Given the description of an element on the screen output the (x, y) to click on. 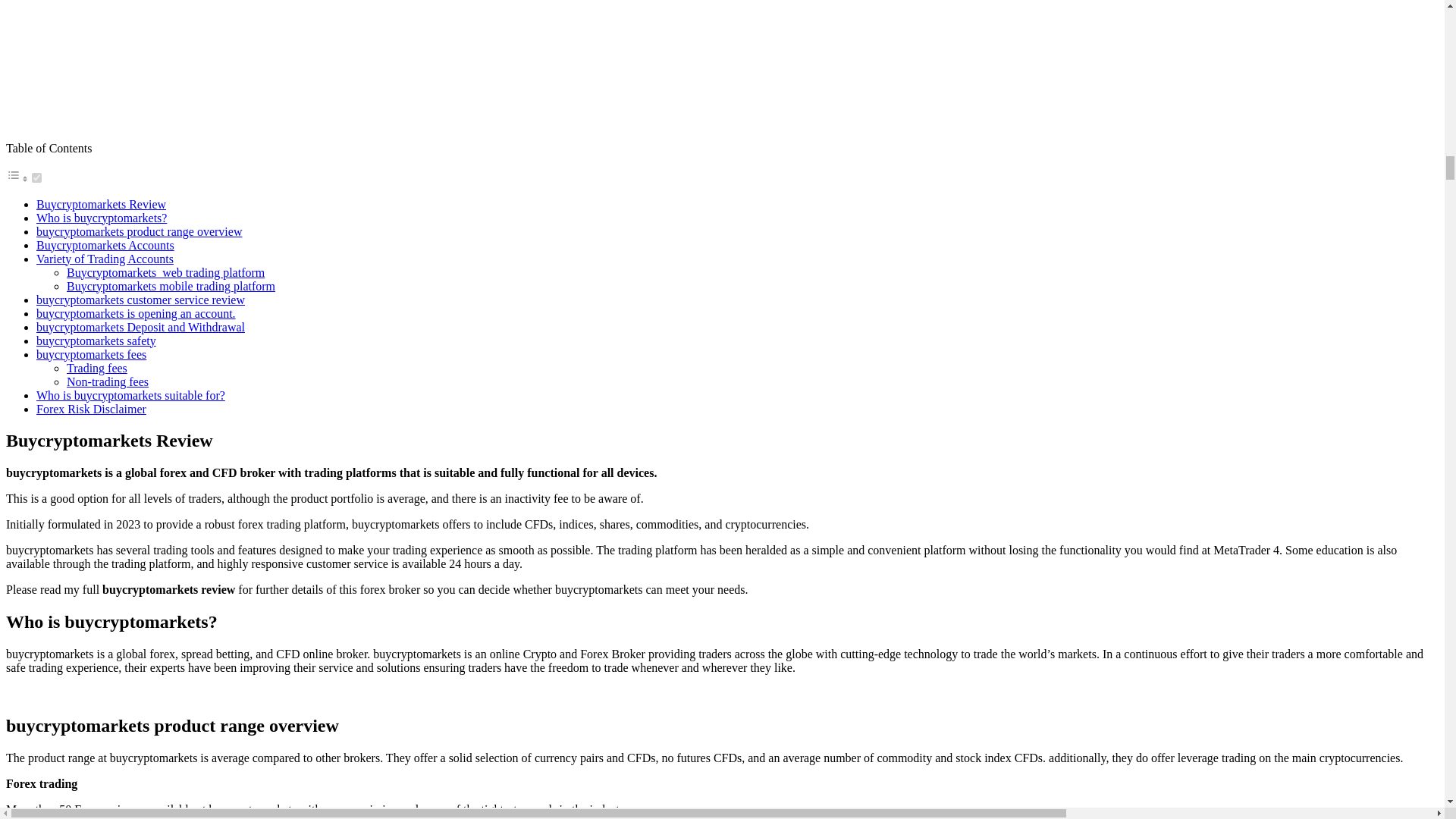
Buycryptomarkets mobile trading platform (170, 286)
on (37, 177)
buycryptomarkets customer service review (140, 299)
Buycryptomarkets Review (100, 204)
Buycryptomarkets Accounts (105, 245)
buycryptomarkets is opening an account. (135, 313)
Variety of Trading Accounts (104, 258)
buycryptomarkets product range overview (138, 231)
Who is buycryptomarkets? (101, 217)
